Given the description of an element on the screen output the (x, y) to click on. 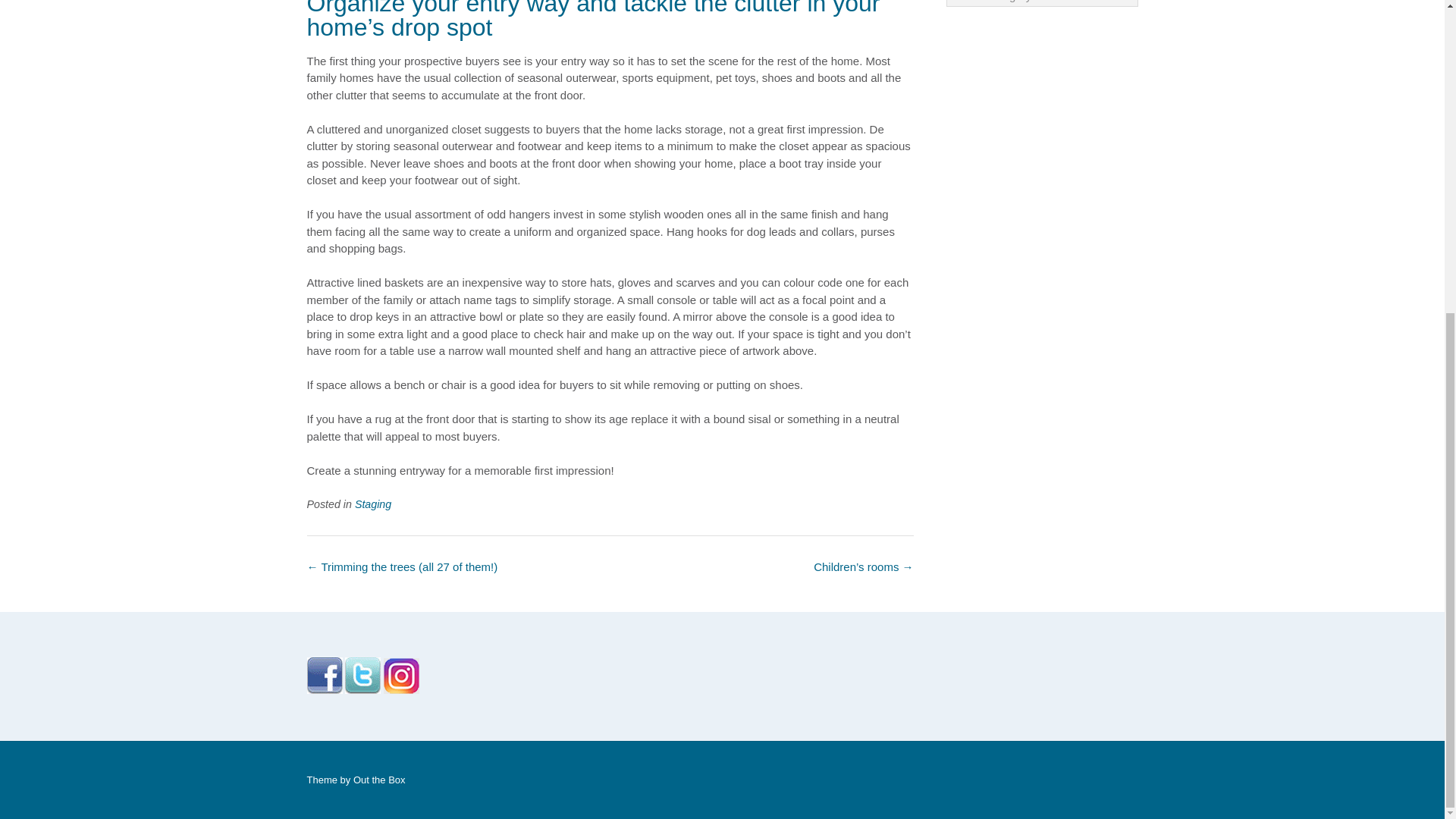
Out the Box (379, 779)
Staging (373, 503)
